Given the description of an element on the screen output the (x, y) to click on. 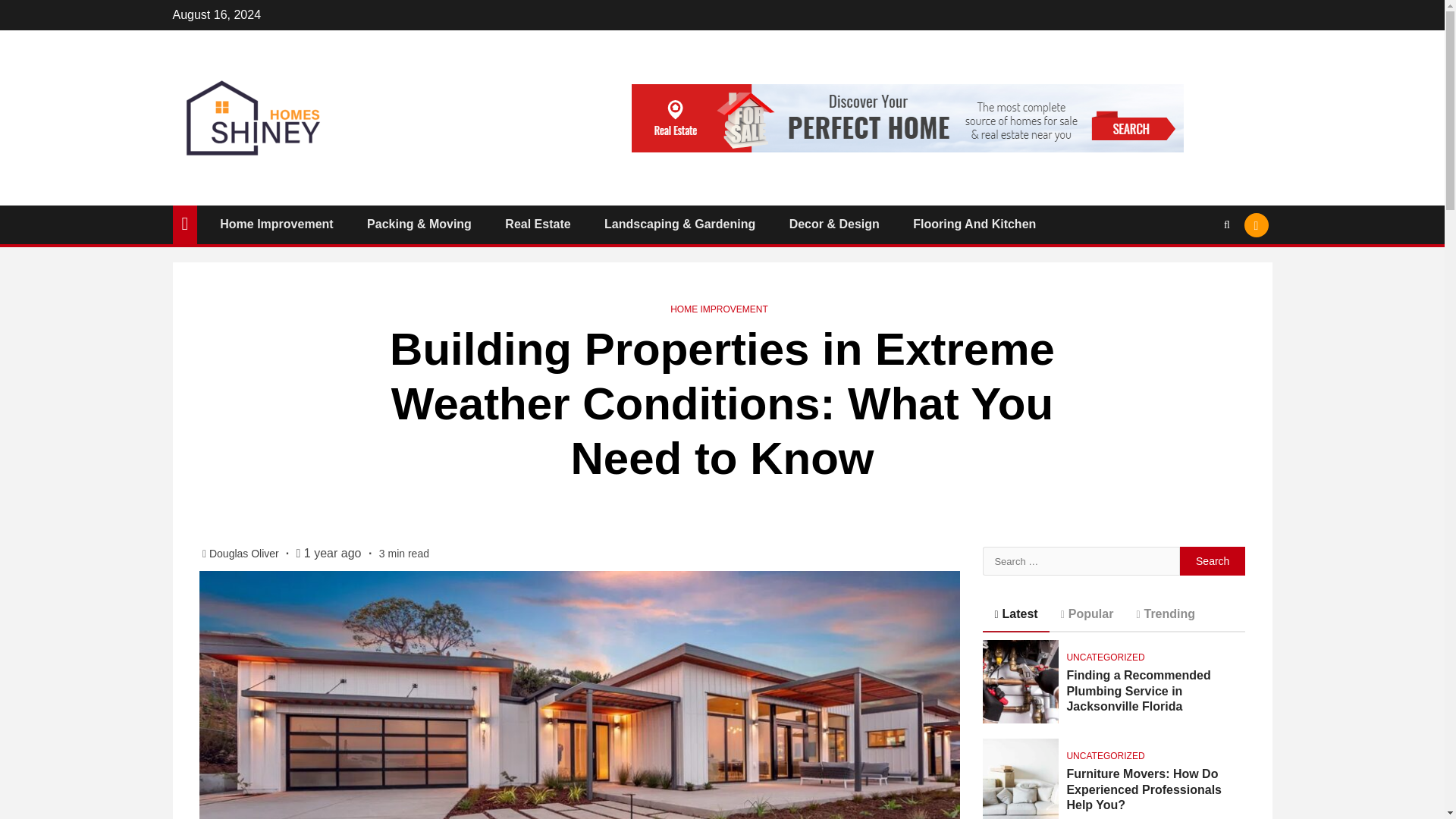
Search (1212, 561)
HOME IMPROVEMENT (718, 308)
Real Estate (537, 223)
Search (1212, 561)
Home Improvement (276, 223)
Douglas Oliver (245, 553)
Flooring And Kitchen (973, 223)
Search (1197, 271)
Search (1212, 561)
